Given the description of an element on the screen output the (x, y) to click on. 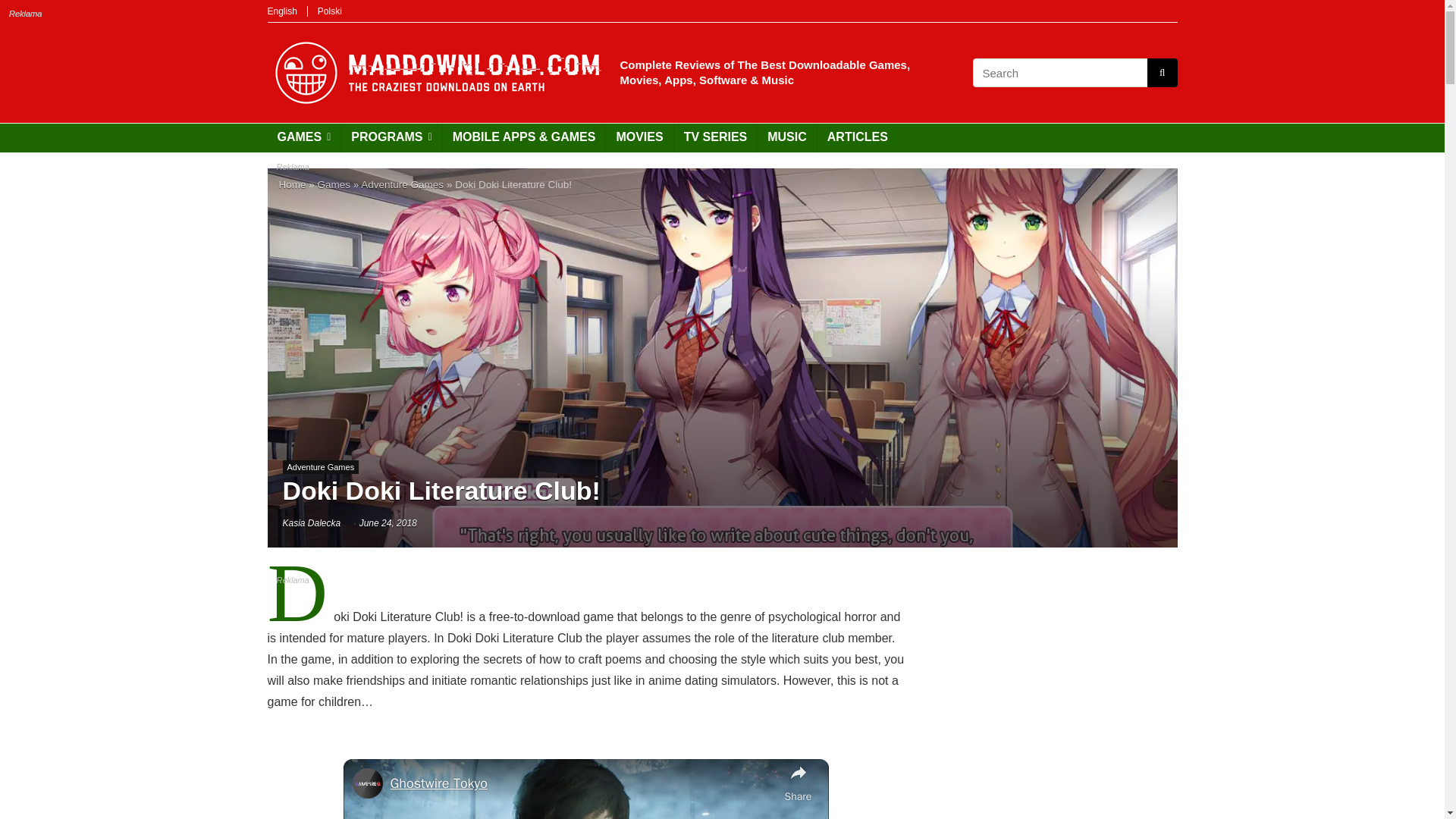
MUSIC (786, 137)
Adventure Games (402, 184)
GAMES (303, 137)
Adventure Games (320, 467)
English (281, 10)
TV SERIES (715, 137)
ARTICLES (857, 137)
MOVIES (638, 137)
View all posts in Adventure Games (320, 467)
Polski (329, 10)
Kasia Dalecka (311, 522)
Home (292, 184)
PROGRAMS (390, 137)
Games (333, 184)
